Given the description of an element on the screen output the (x, y) to click on. 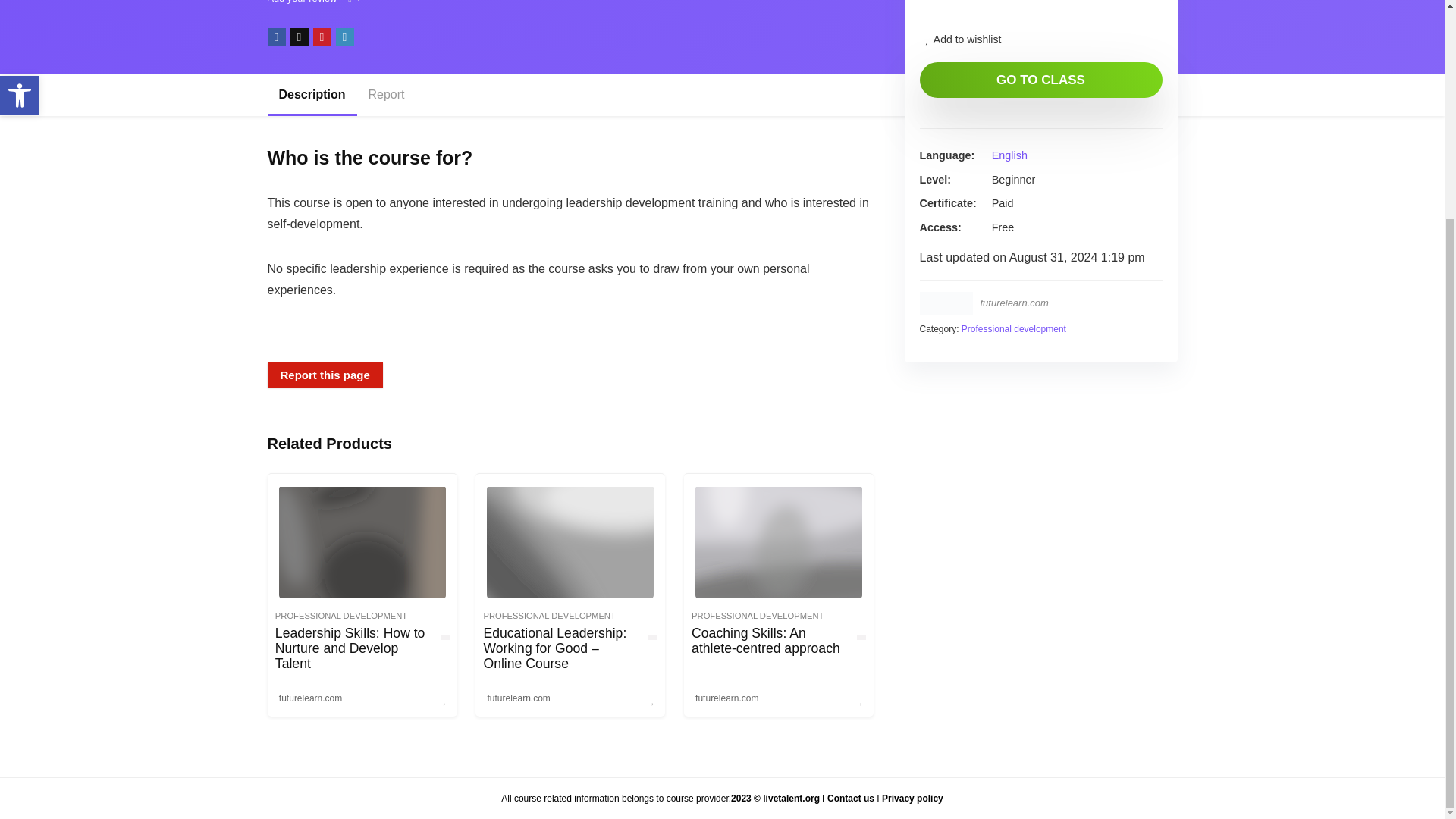
PROFESSIONAL DEVELOPMENT (548, 614)
Description (311, 94)
Leadership Skills: How to Nurture and Develop Talent (350, 647)
Description Report (569, 94)
Add your review (301, 2)
futurelearn.com (1013, 302)
English (1009, 155)
PROFESSIONAL DEVELOPMENT (757, 614)
Report (386, 94)
futurelearn.com (518, 698)
